Given the description of an element on the screen output the (x, y) to click on. 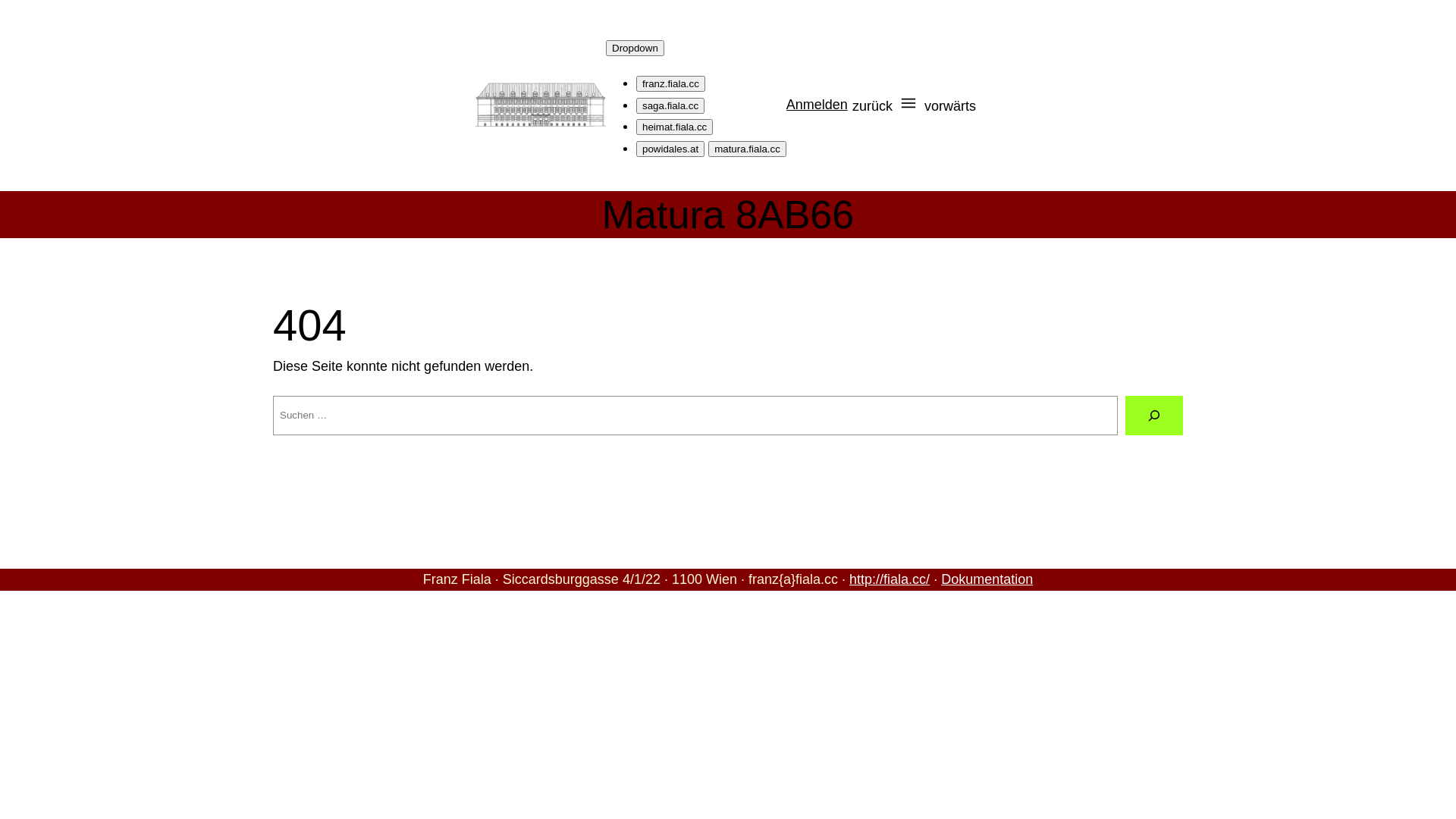
heimat.fiala.cc Element type: text (674, 126)
Dokumentation Element type: text (986, 578)
http://fiala.cc/ Element type: text (889, 578)
matura.fiala.cc Element type: text (747, 148)
franz.fiala.cc Element type: text (670, 83)
Dropdown Element type: text (634, 48)
saga.fiala.cc Element type: text (670, 105)
Anmelden Element type: text (816, 104)
powidales.at Element type: text (670, 148)
menu Element type: text (908, 107)
